Given the description of an element on the screen output the (x, y) to click on. 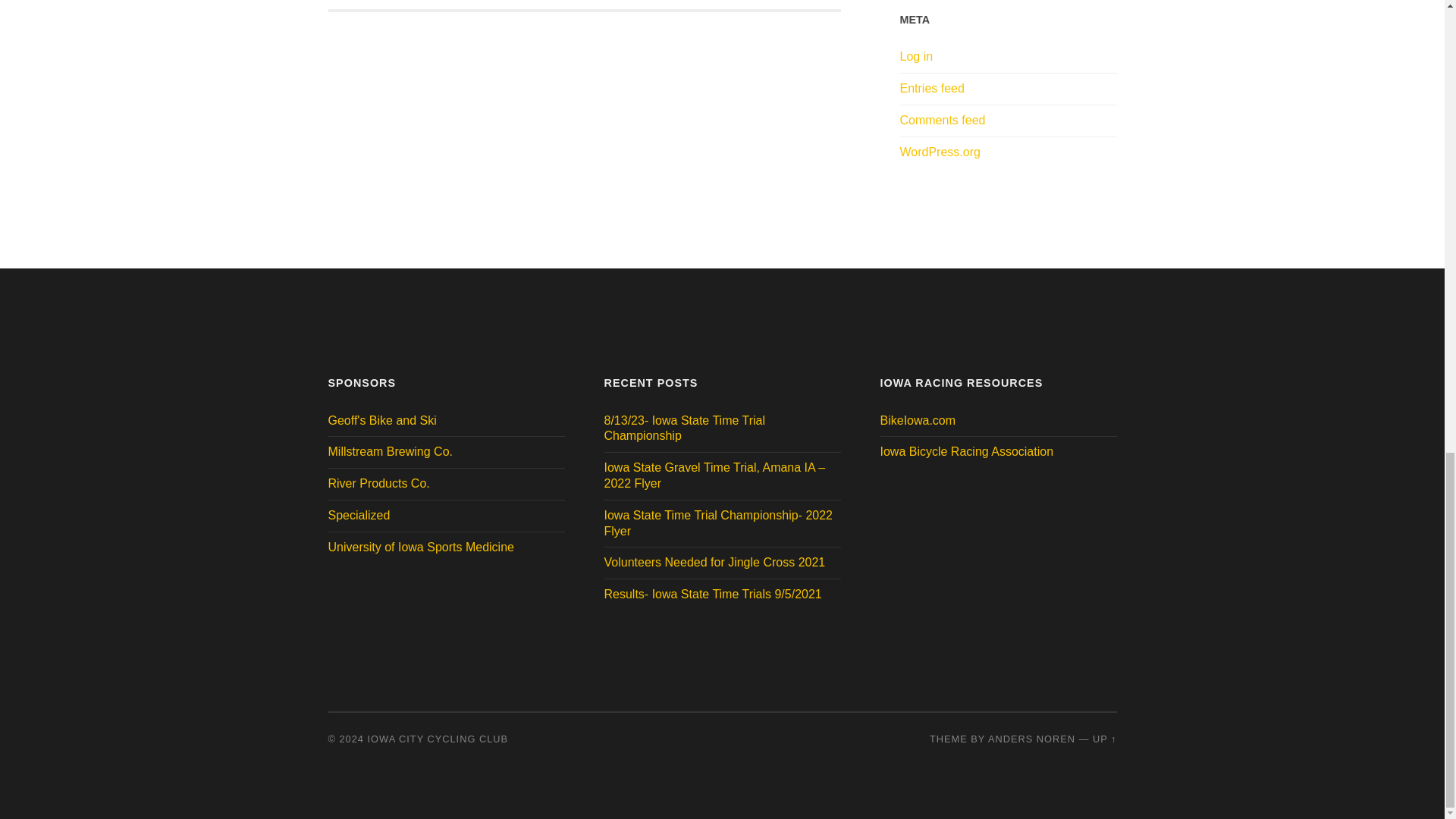
River Products Co. (378, 482)
Millstream Brewing Co. (389, 451)
Entries feed (369, 4)
Log in (931, 88)
Specialized (916, 56)
All things bike related in our great state. (358, 514)
Geoff's Bike and Ski (917, 420)
University of Iowa Sports Medicine (381, 420)
